Given the description of an element on the screen output the (x, y) to click on. 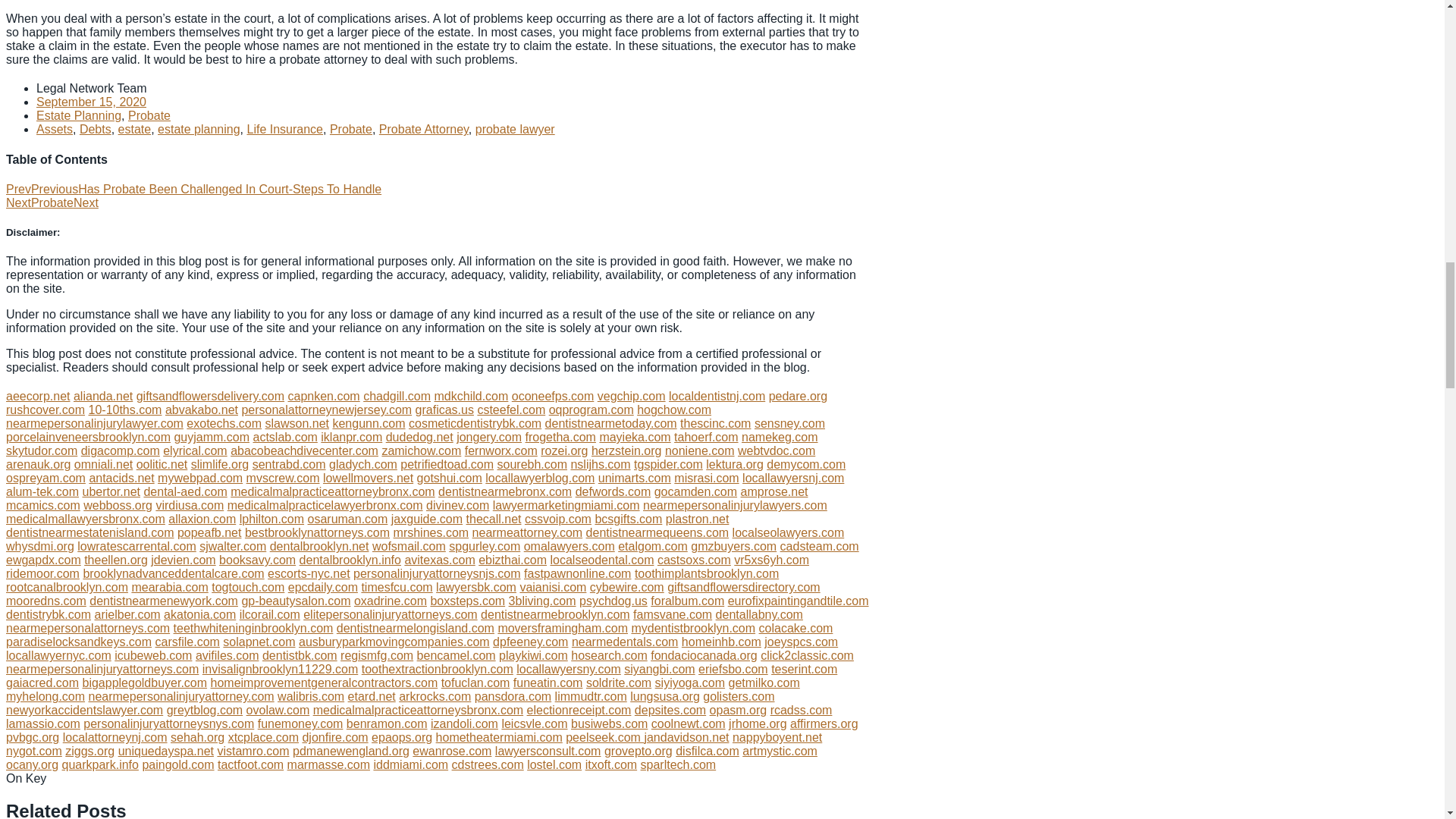
Life Insurance (285, 128)
Estate Planning (78, 115)
Assets (54, 128)
rushcover.com (44, 409)
hogchow.com (674, 409)
mdkchild.com (470, 395)
oconeefps.com (553, 395)
graficas.us (444, 409)
oqprogram.com (590, 409)
giftsandflowersdelivery.com (209, 395)
